Given the description of an element on the screen output the (x, y) to click on. 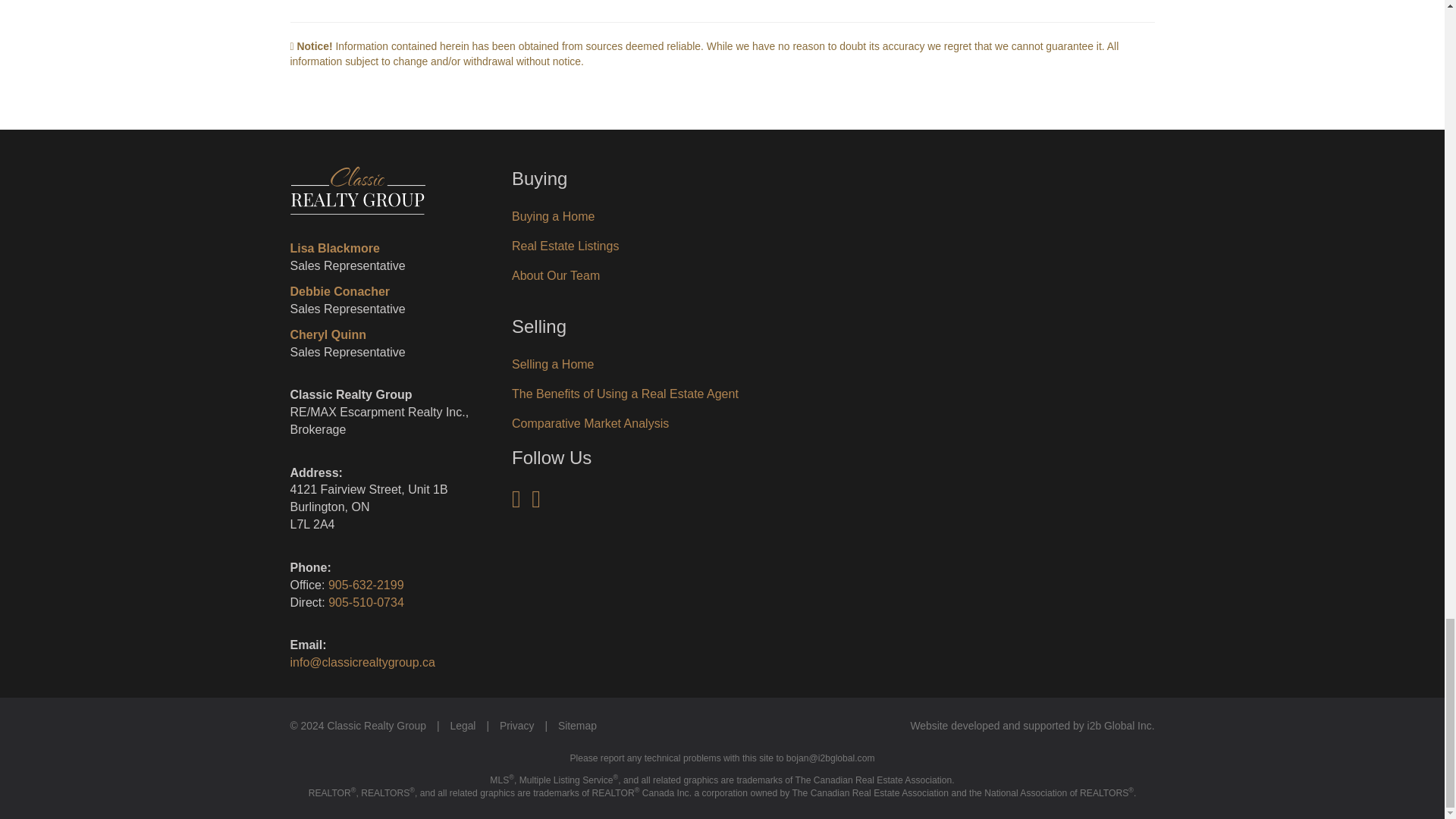
Burlington Real Estate Listings (565, 245)
About Classic Realty Group (555, 275)
Buying A Home (553, 215)
